Given the description of an element on the screen output the (x, y) to click on. 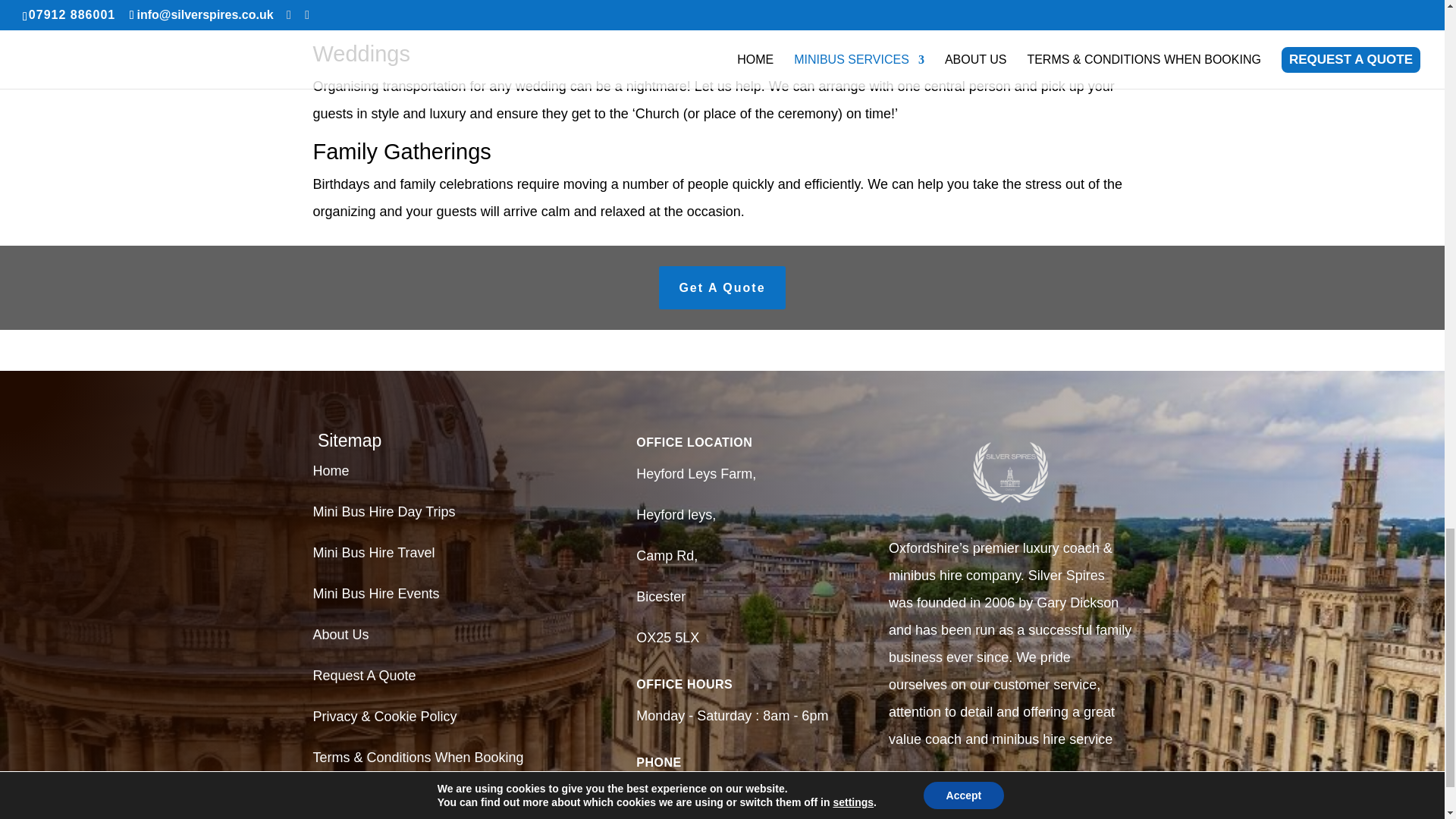
Mini Bus Hire Travel (373, 552)
Request A Quote (363, 675)
About Us (340, 634)
Follow on Facebook (987, 794)
Mini Bus Hire Day Trips (383, 511)
Get A Quote (721, 287)
07912 886001 (679, 793)
Follow on Instagram (1032, 794)
Mini Bus Hire Events (376, 593)
Home (331, 470)
